Given the description of an element on the screen output the (x, y) to click on. 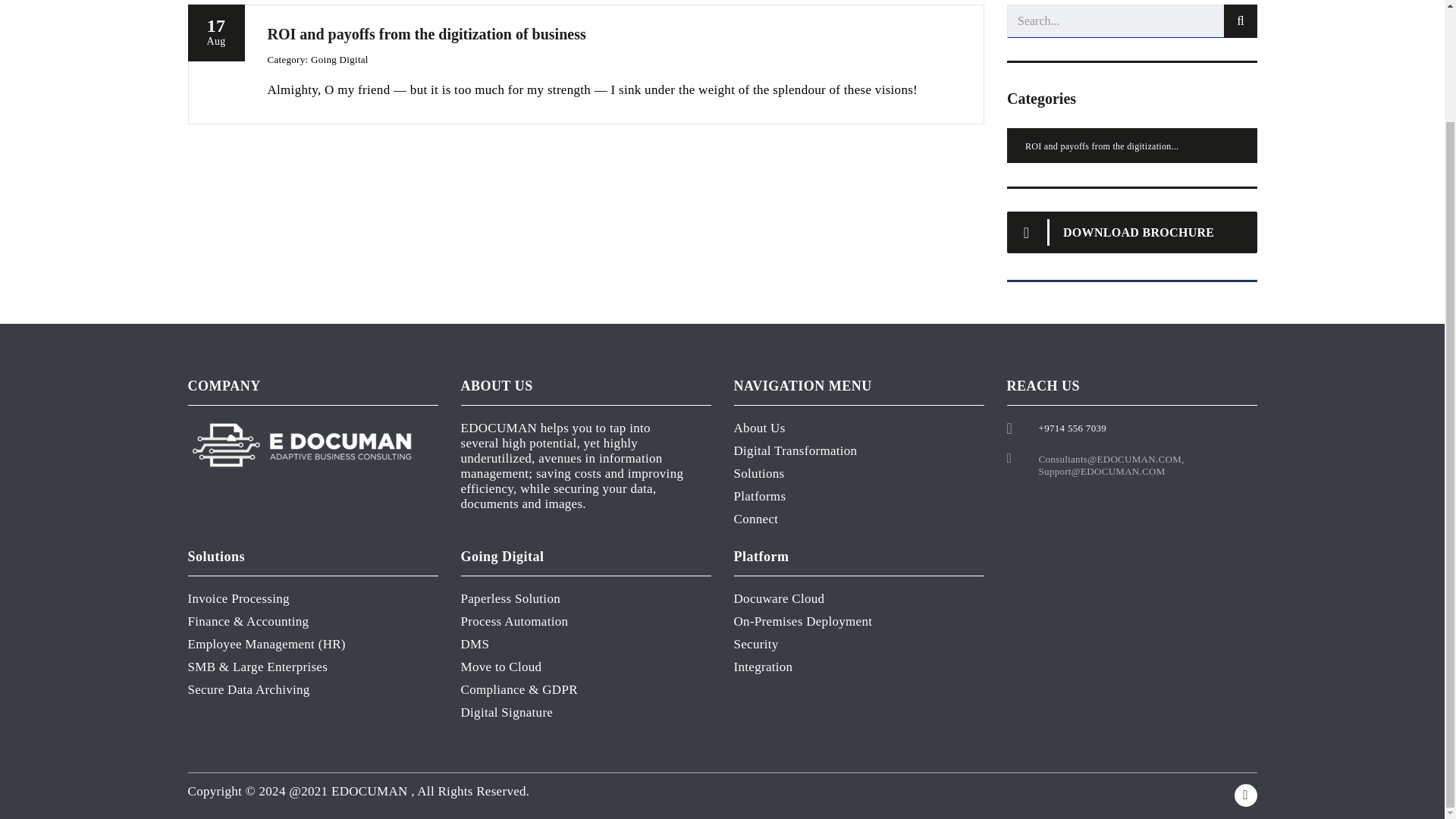
DOWNLOAD BROCHURE (215, 64)
ROI and payoffs from the digitization of business (1132, 232)
ROI and payoffs from the digitization of business (1132, 144)
